Given the description of an element on the screen output the (x, y) to click on. 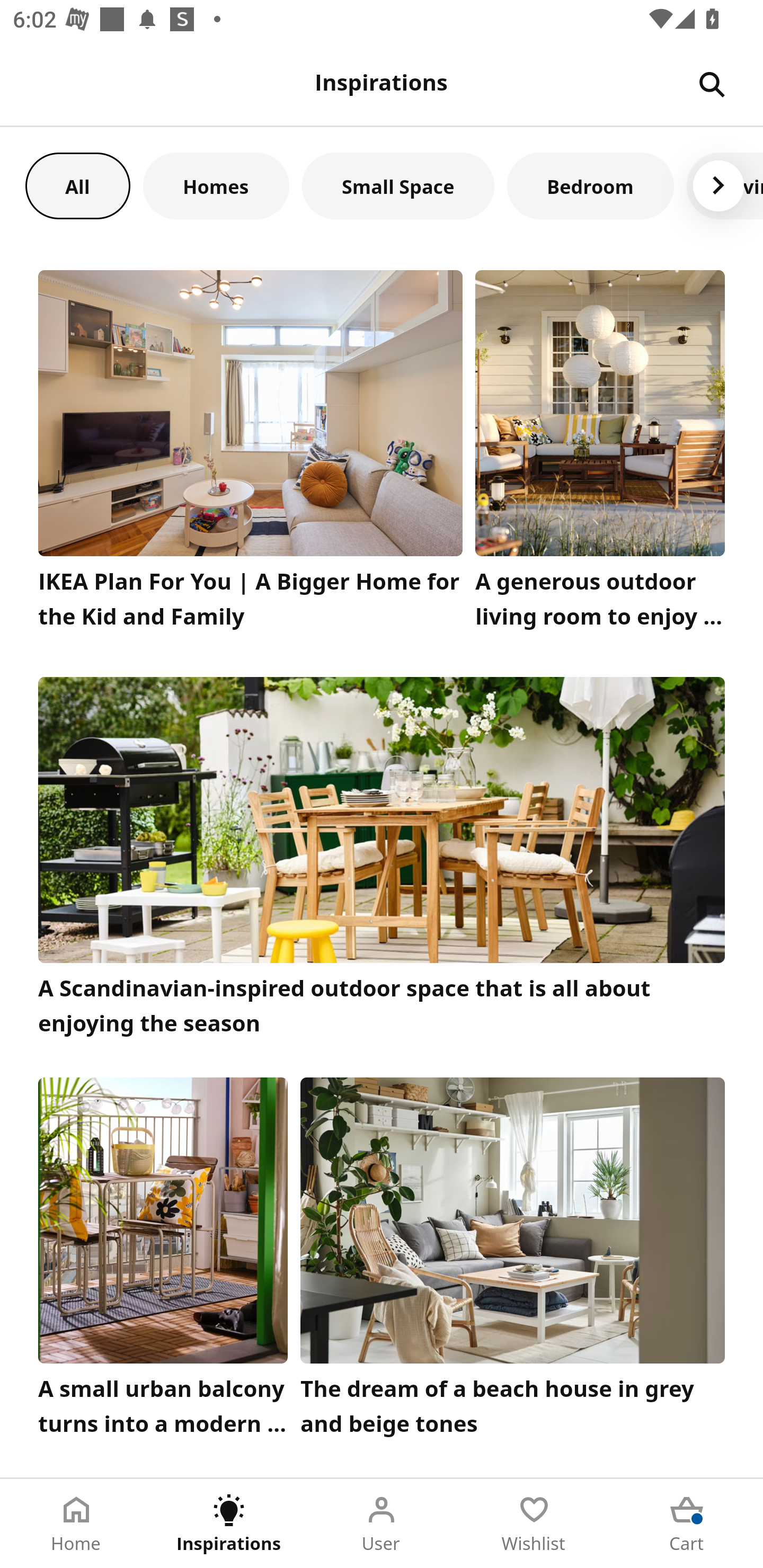
All (77, 185)
Homes (216, 185)
Small Space (398, 185)
Bedroom (590, 185)
The dream of a beach house in grey and beige tones (512, 1261)
Home
Tab 1 of 5 (76, 1522)
Inspirations
Tab 2 of 5 (228, 1522)
User
Tab 3 of 5 (381, 1522)
Wishlist
Tab 4 of 5 (533, 1522)
Cart
Tab 5 of 5 (686, 1522)
